Given the description of an element on the screen output the (x, y) to click on. 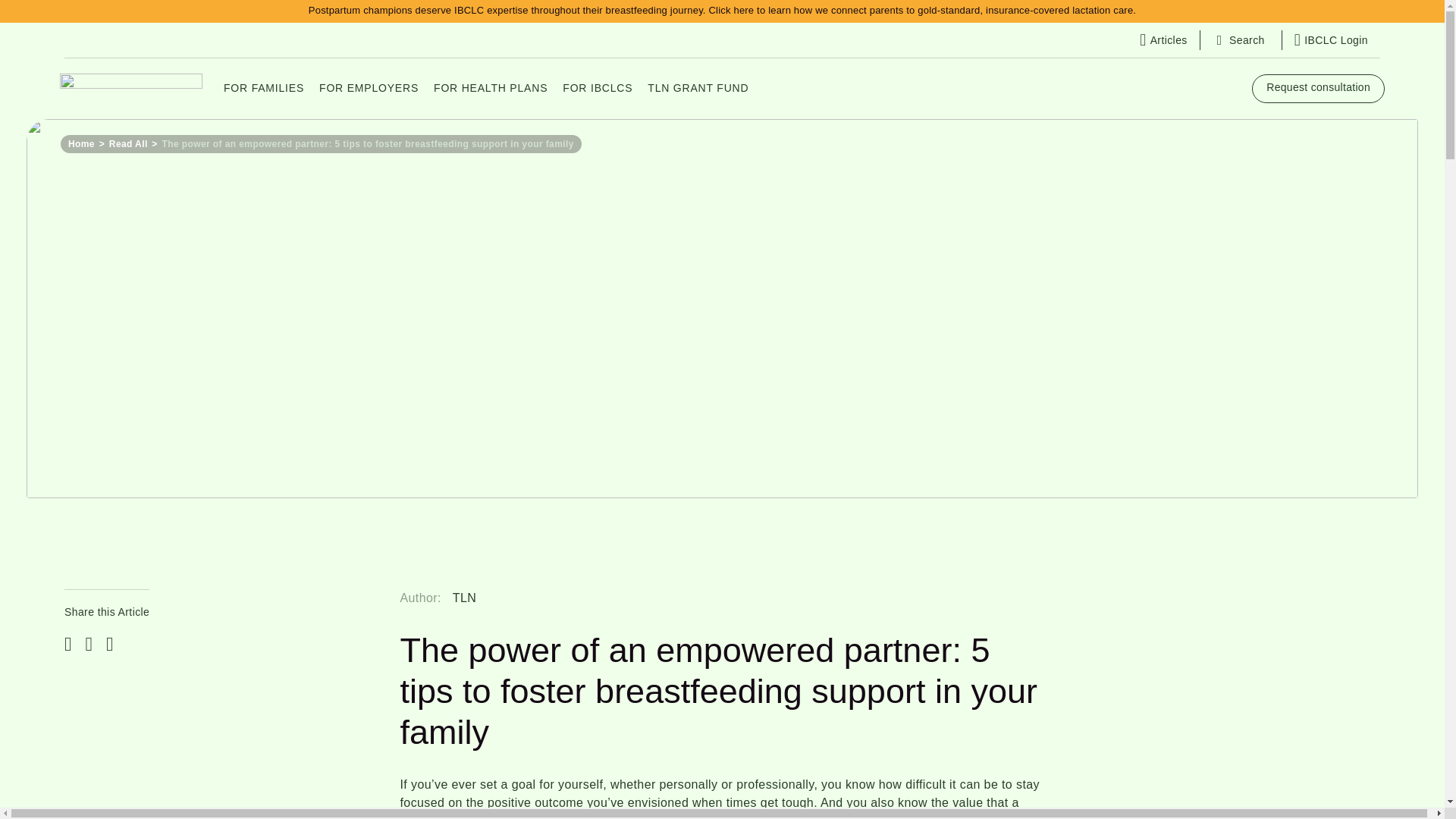
Search (1240, 40)
IBCLC Login (1331, 39)
FOR IBCLCS (597, 88)
Request consultation (1318, 88)
Articles (1164, 39)
FOR HEALTH PLANS (490, 88)
TLN GRANT FUND (697, 88)
FOR FAMILIES (263, 88)
FOR EMPLOYERS (368, 88)
